Given the description of an element on the screen output the (x, y) to click on. 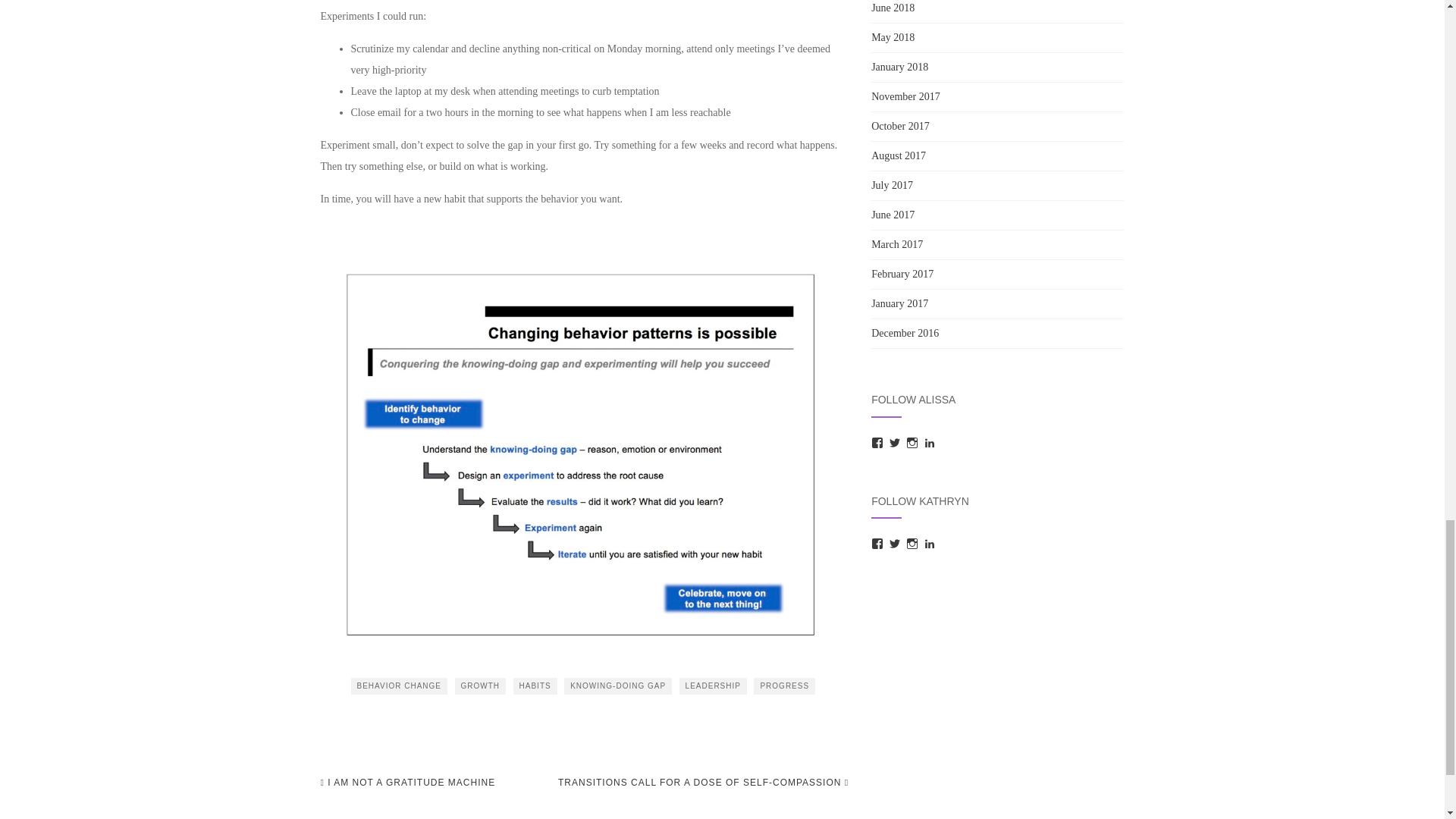
LEADERSHIP (712, 686)
KNOWING-DOING GAP (617, 686)
I AM NOT A GRATITUDE MACHINE (407, 782)
TRANSITIONS CALL FOR A DOSE OF SELF-COMPASSION (702, 782)
PROGRESS (784, 686)
HABITS (535, 686)
GROWTH (480, 686)
BEHAVIOR CHANGE (399, 686)
